Given the description of an element on the screen output the (x, y) to click on. 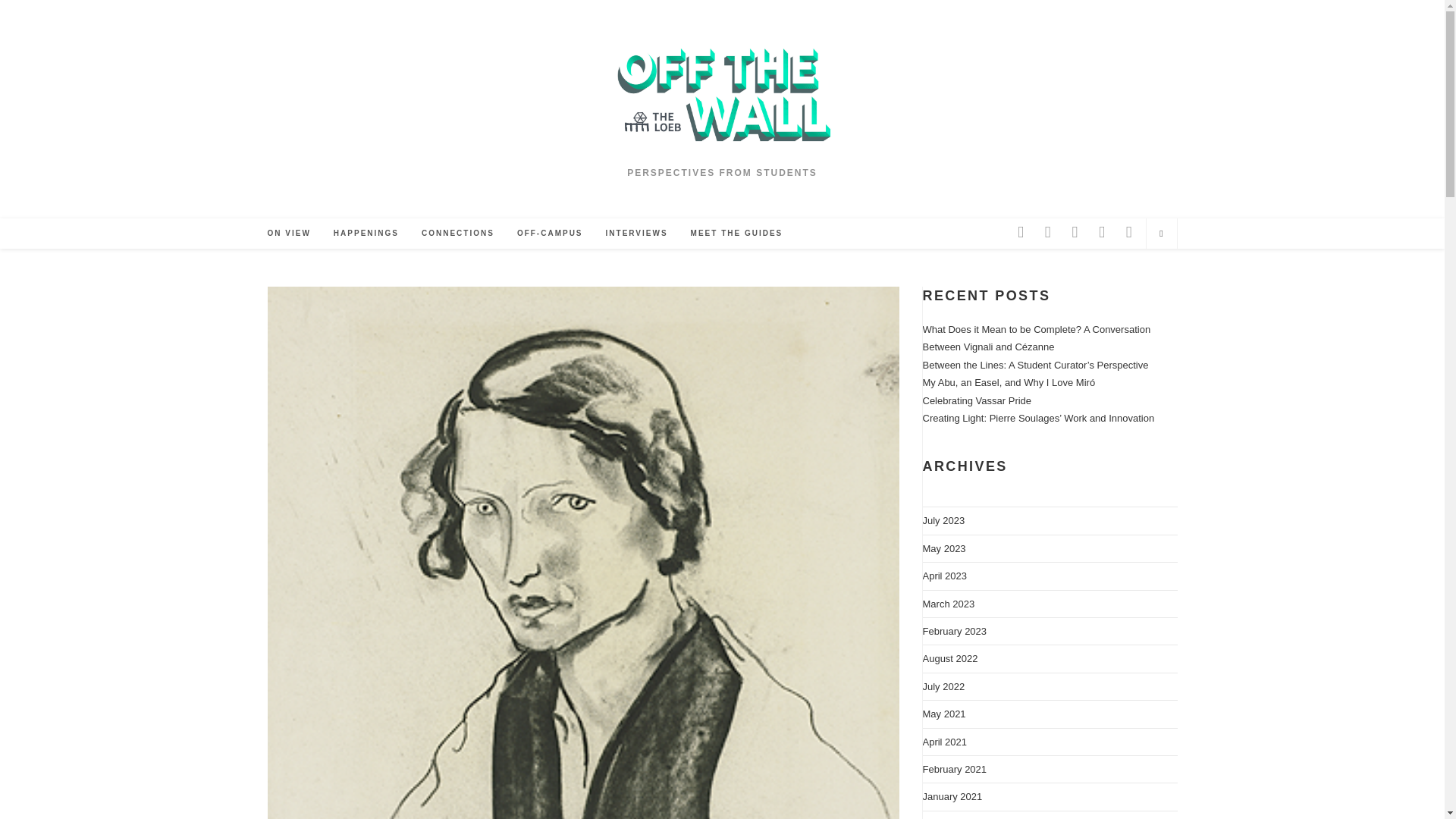
CONNECTIONS (457, 233)
INTERVIEWS (636, 233)
HAPPENINGS (365, 233)
OFF-CAMPUS (549, 233)
ON VIEW (288, 233)
MEET THE GUIDES (736, 233)
